Given the description of an element on the screen output the (x, y) to click on. 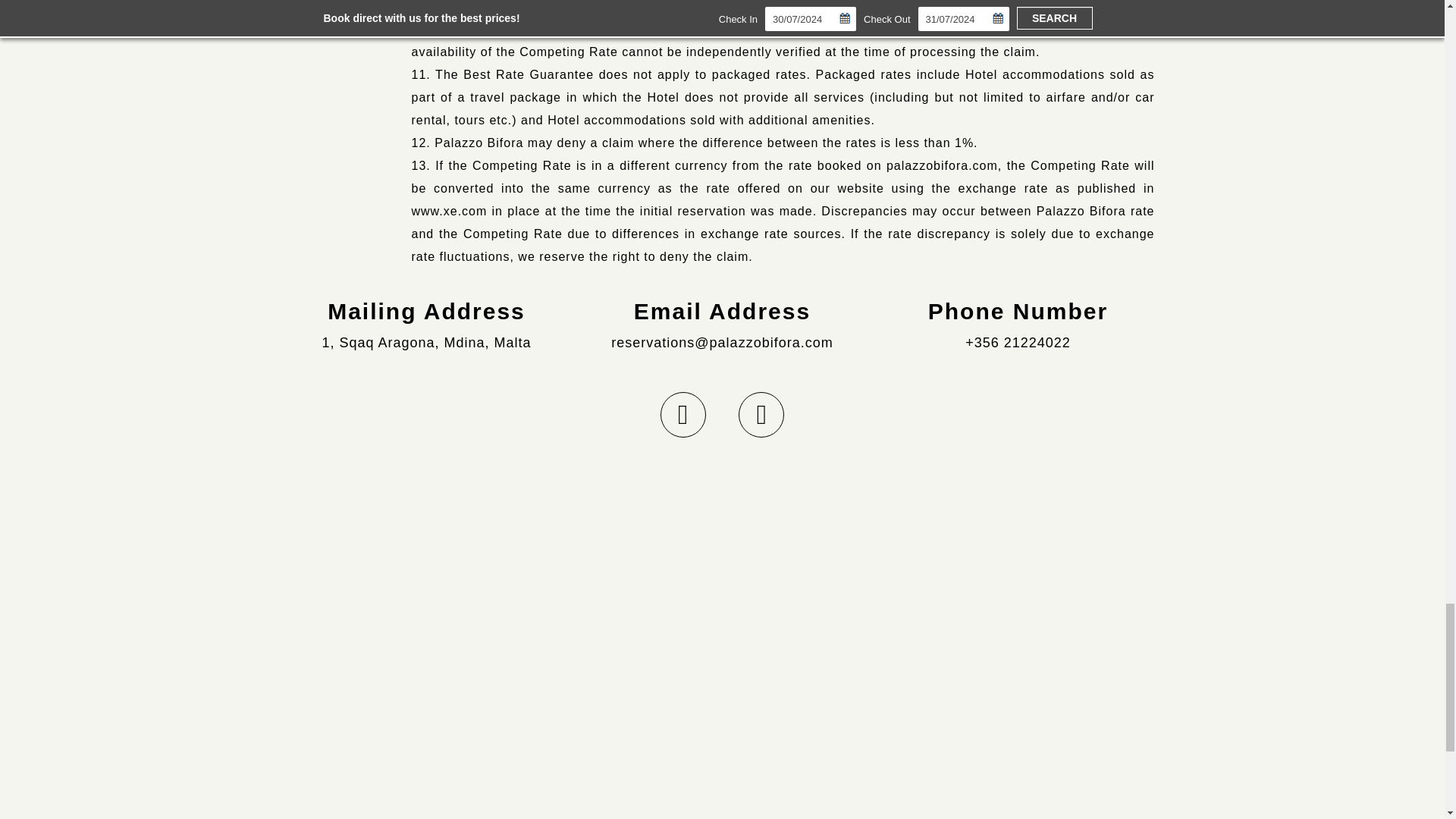
356 21224022 (1022, 342)
